Given the description of an element on the screen output the (x, y) to click on. 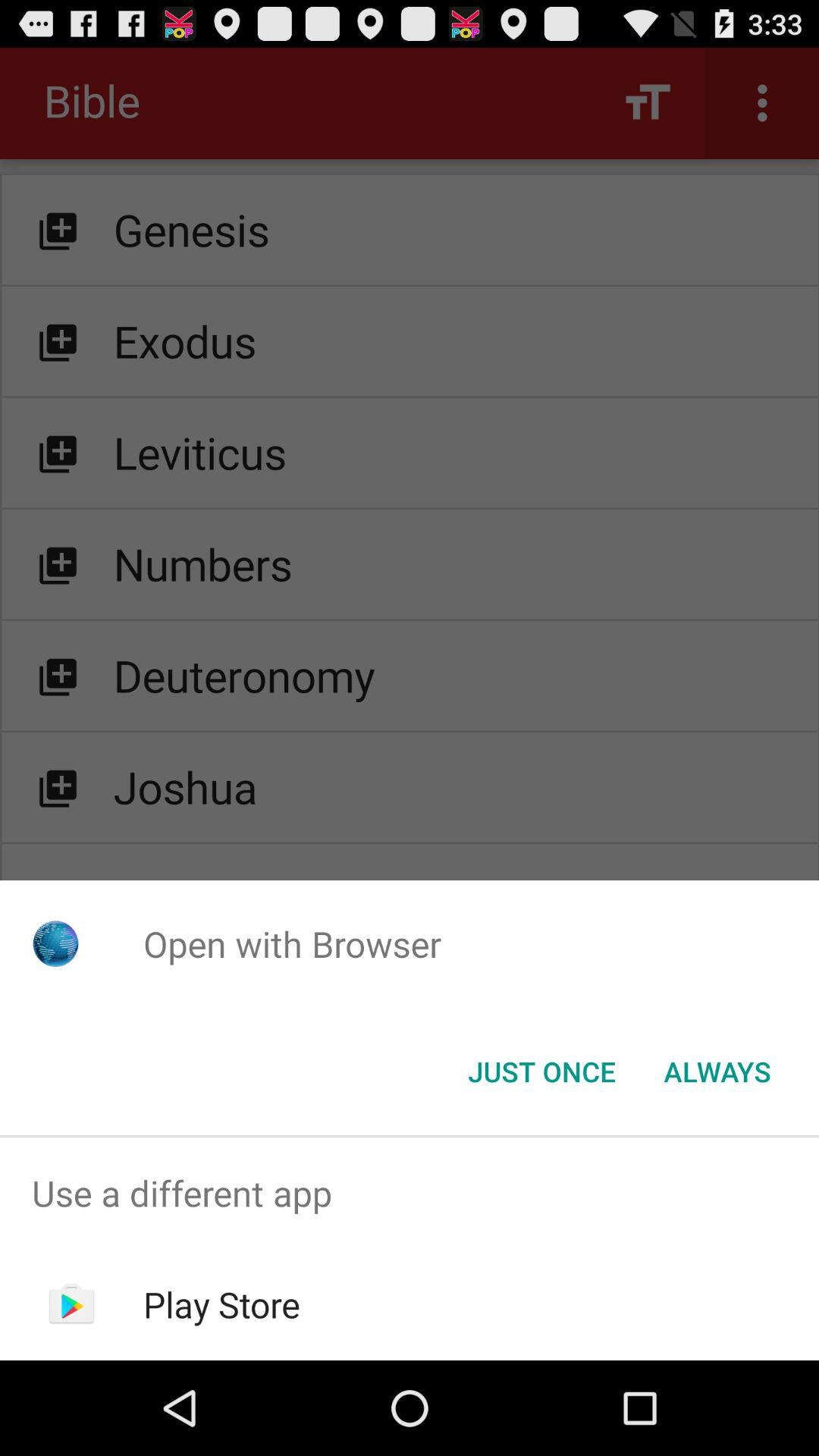
select item below open with browser icon (541, 1071)
